Given the description of an element on the screen output the (x, y) to click on. 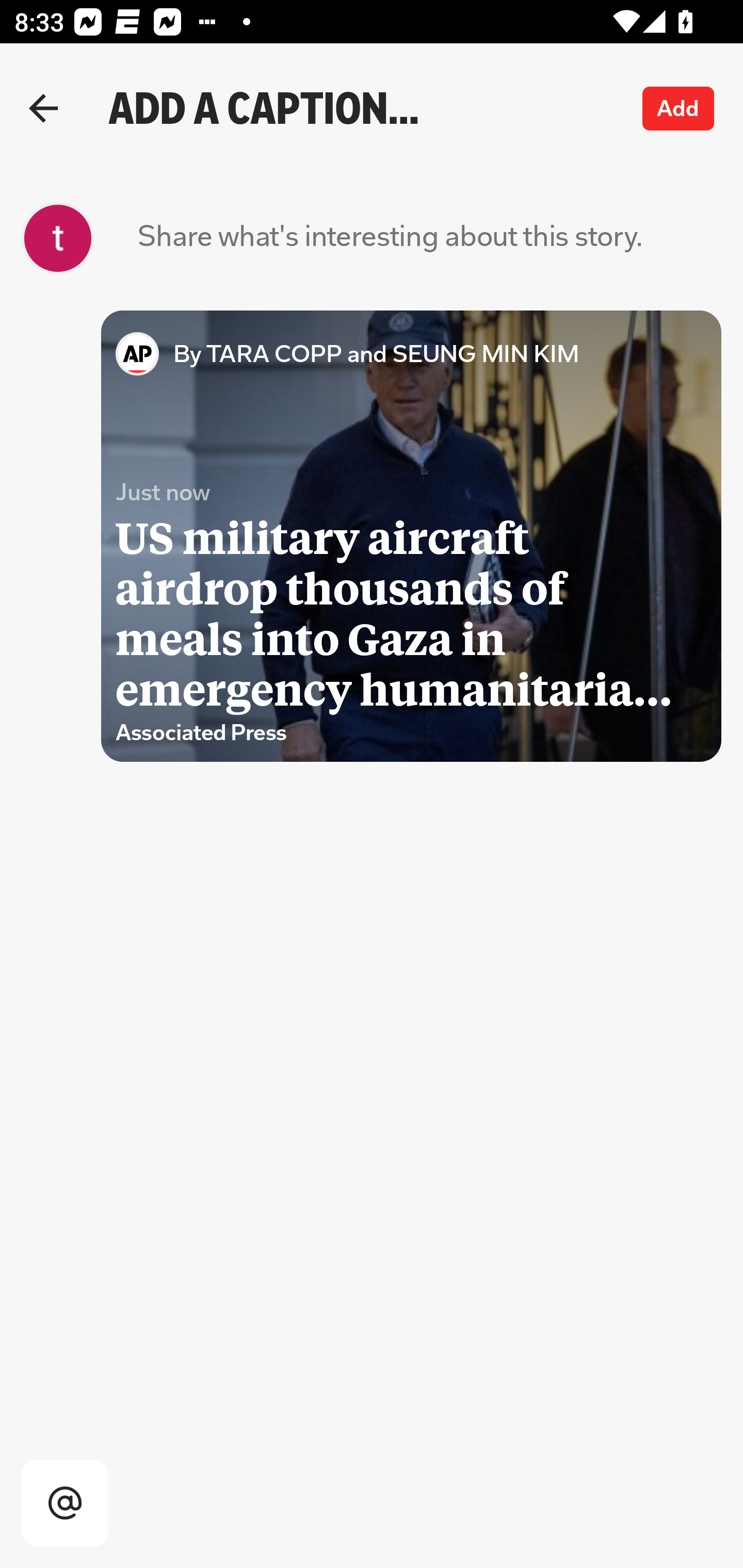
Add (678, 108)
Share what's interesting about this story. (390, 238)
